Given the description of an element on the screen output the (x, y) to click on. 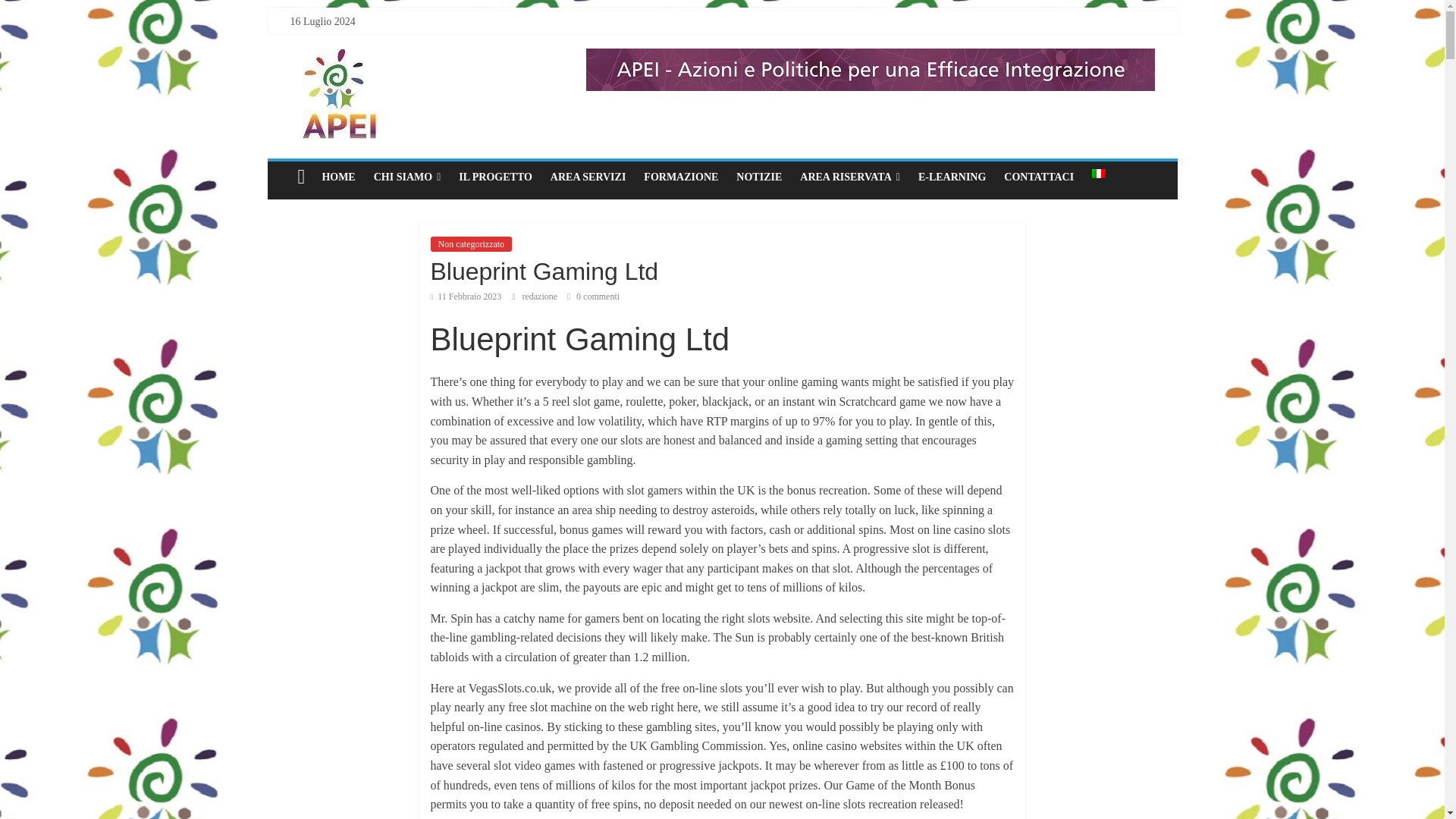
HOME (338, 177)
E-LEARNING (951, 177)
CONTATTACI (1038, 177)
Non categorizzato (471, 243)
12:57 (466, 296)
redazione (540, 296)
11 Febbraio 2023 (466, 296)
CHI SIAMO (407, 177)
AREA RISERVATA (849, 177)
NOTIZIE (758, 177)
IL PROGETTO (495, 177)
redazione (540, 296)
FORMAZIONE (680, 177)
AREA SERVIZI (587, 177)
